Given the description of an element on the screen output the (x, y) to click on. 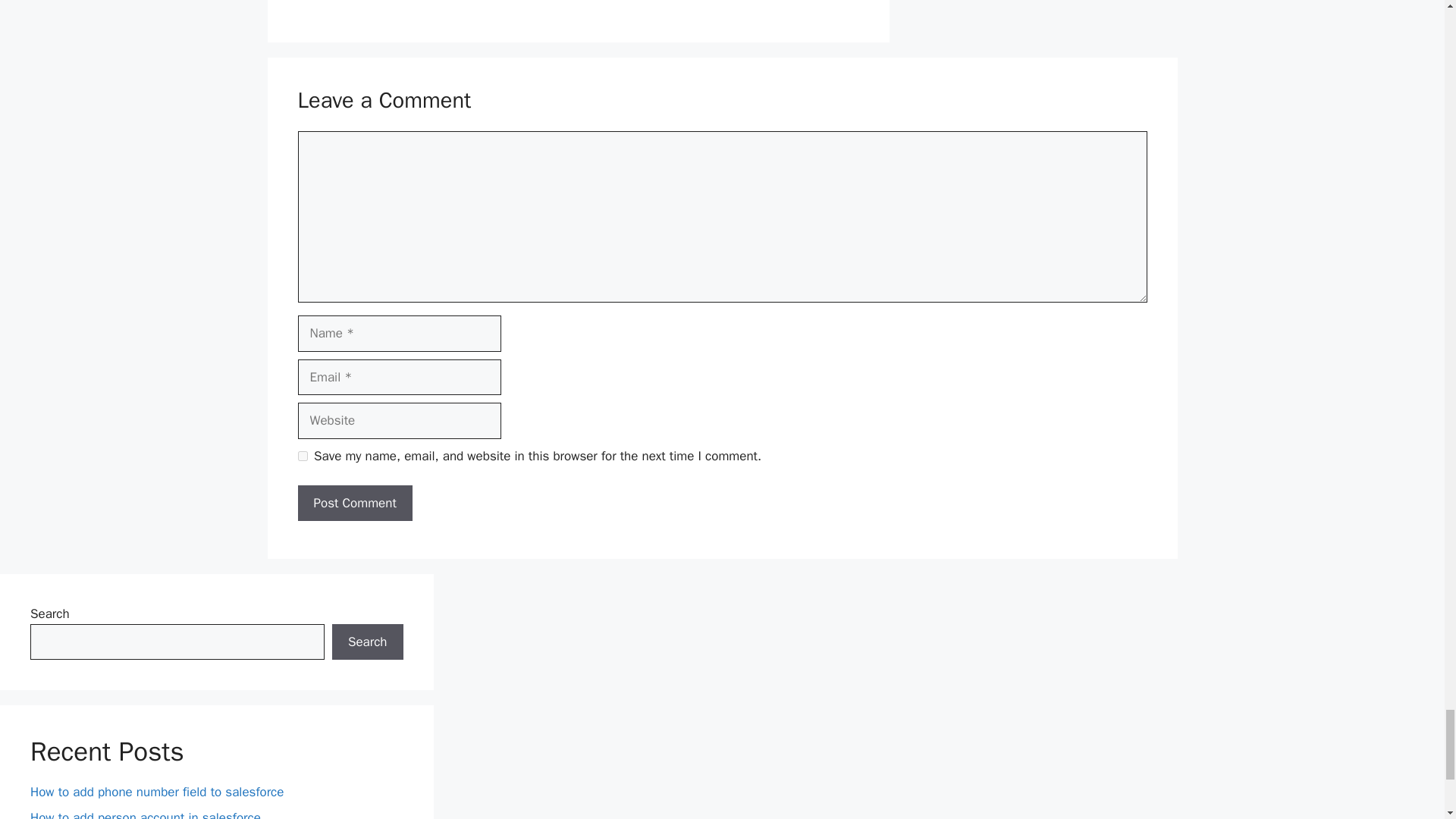
Post Comment (354, 503)
yes (302, 456)
